Given the description of an element on the screen output the (x, y) to click on. 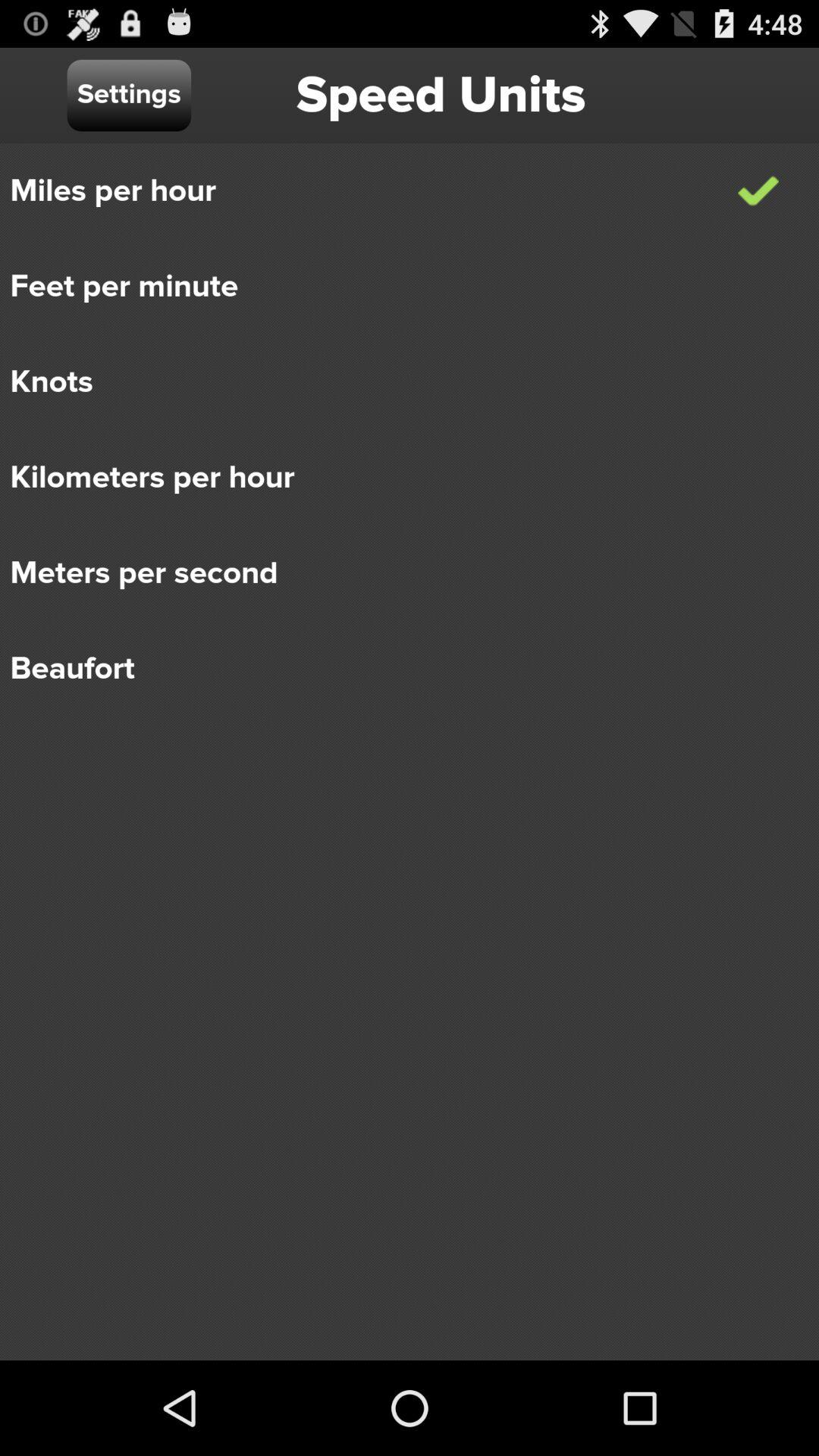
select the feet per minute icon (399, 286)
